Given the description of an element on the screen output the (x, y) to click on. 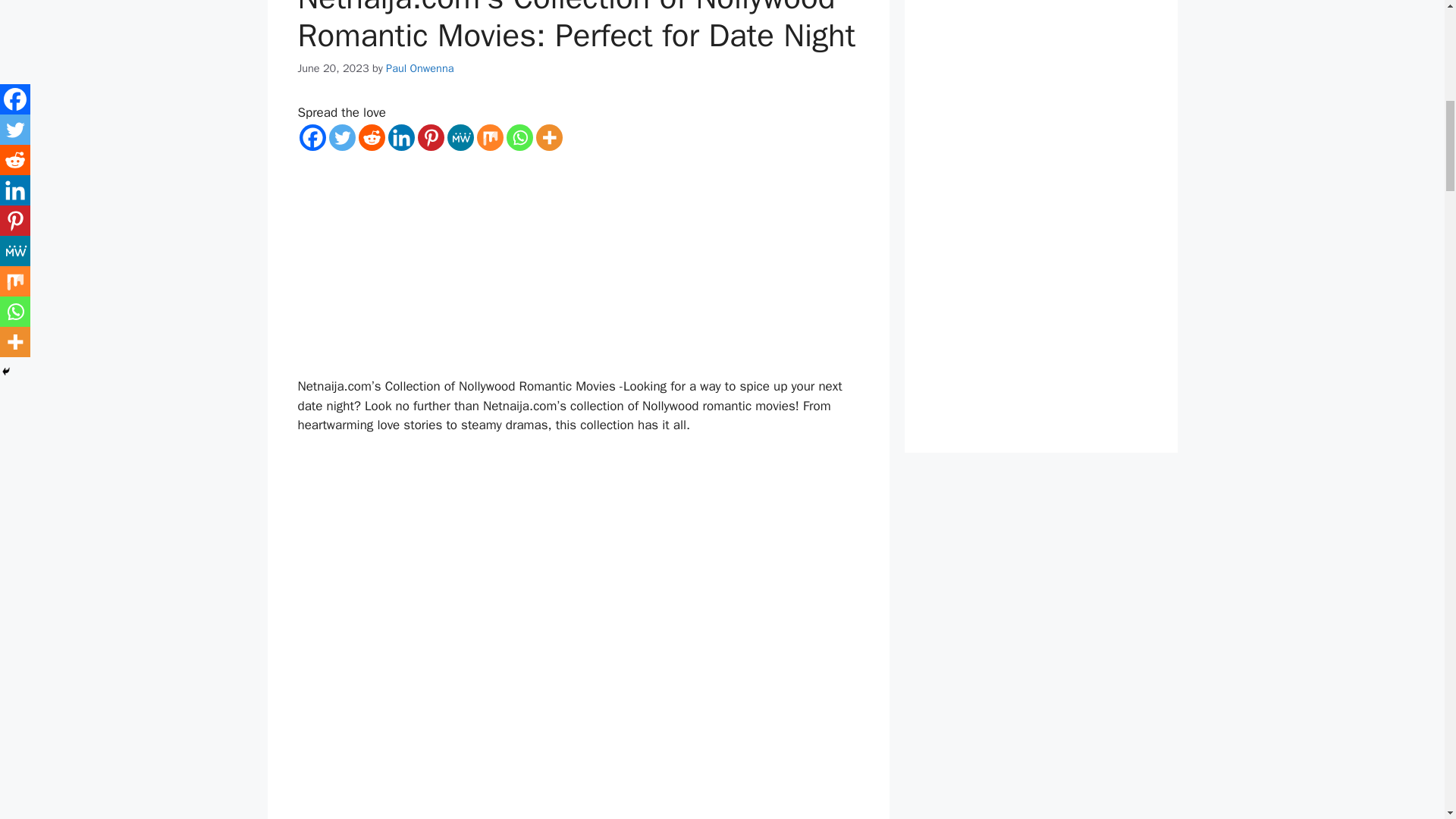
Advertisement (578, 745)
Reddit (371, 137)
Advertisement (578, 264)
Twitter (342, 137)
Whatsapp (519, 137)
Advertisement (578, 560)
More (548, 137)
Mix (489, 137)
Pinterest (430, 137)
MeWe (460, 137)
